Given the description of an element on the screen output the (x, y) to click on. 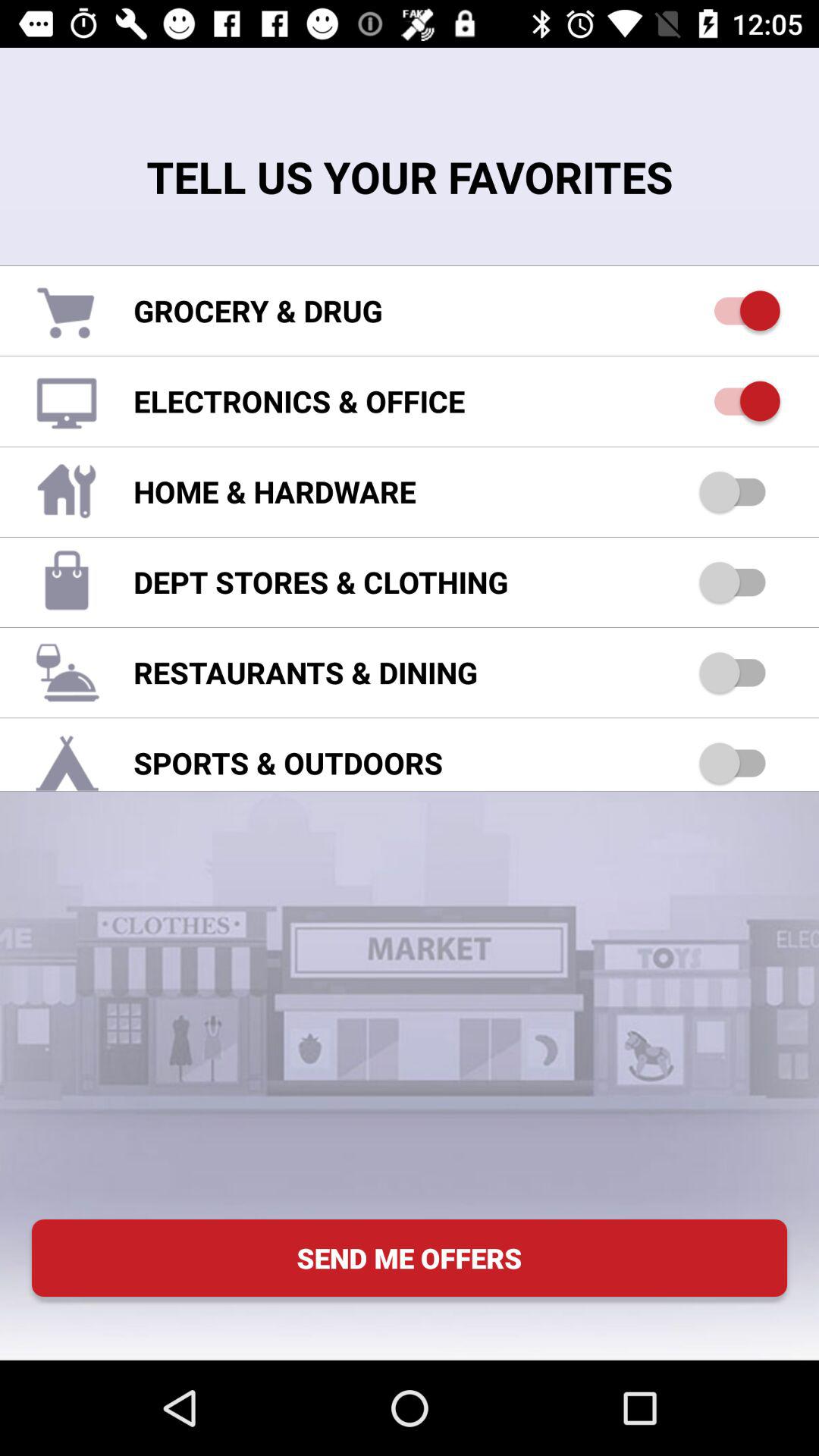
open the send me offers item (409, 1257)
